Given the description of an element on the screen output the (x, y) to click on. 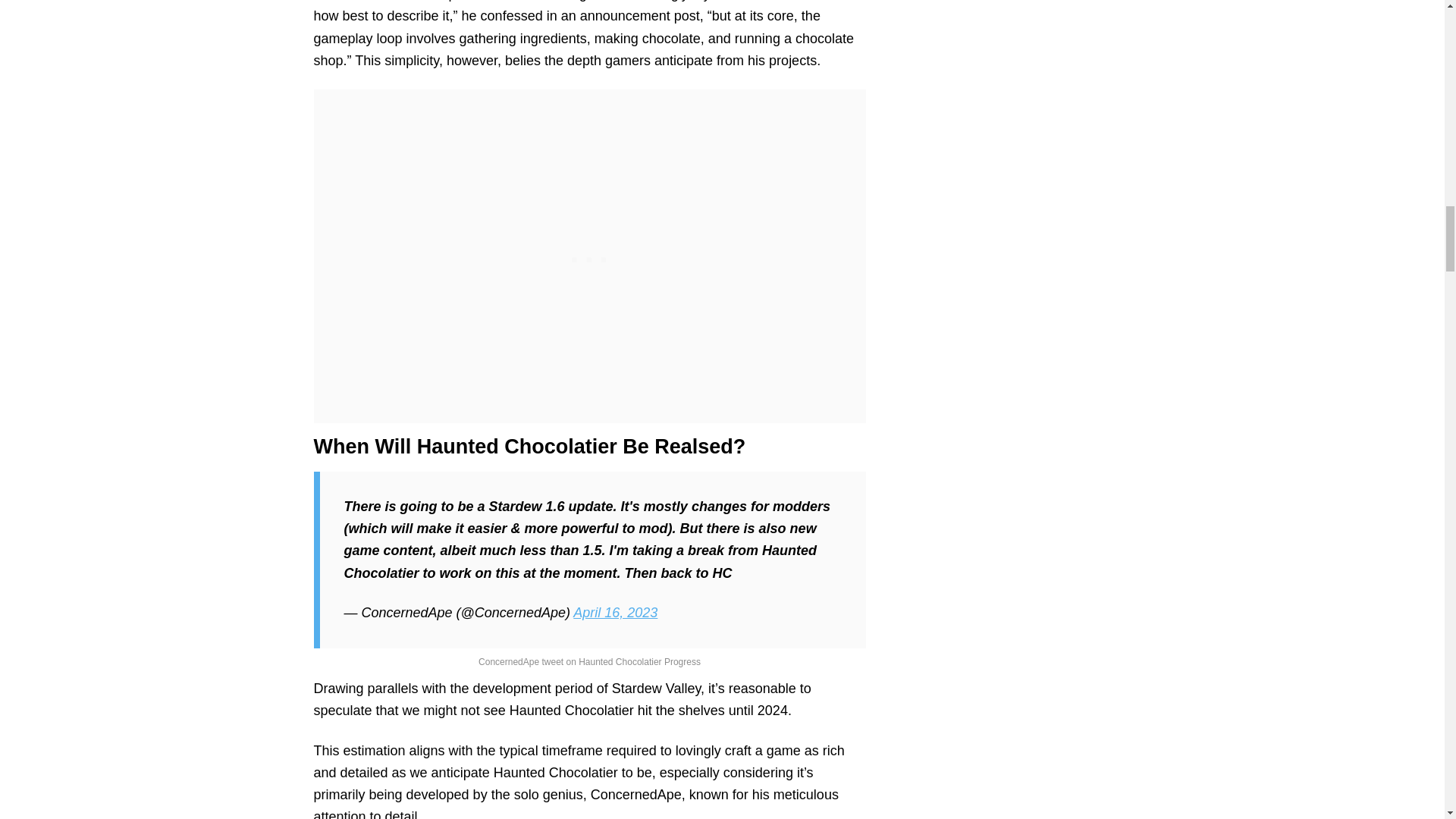
April 16, 2023 (615, 612)
